Given the description of an element on the screen output the (x, y) to click on. 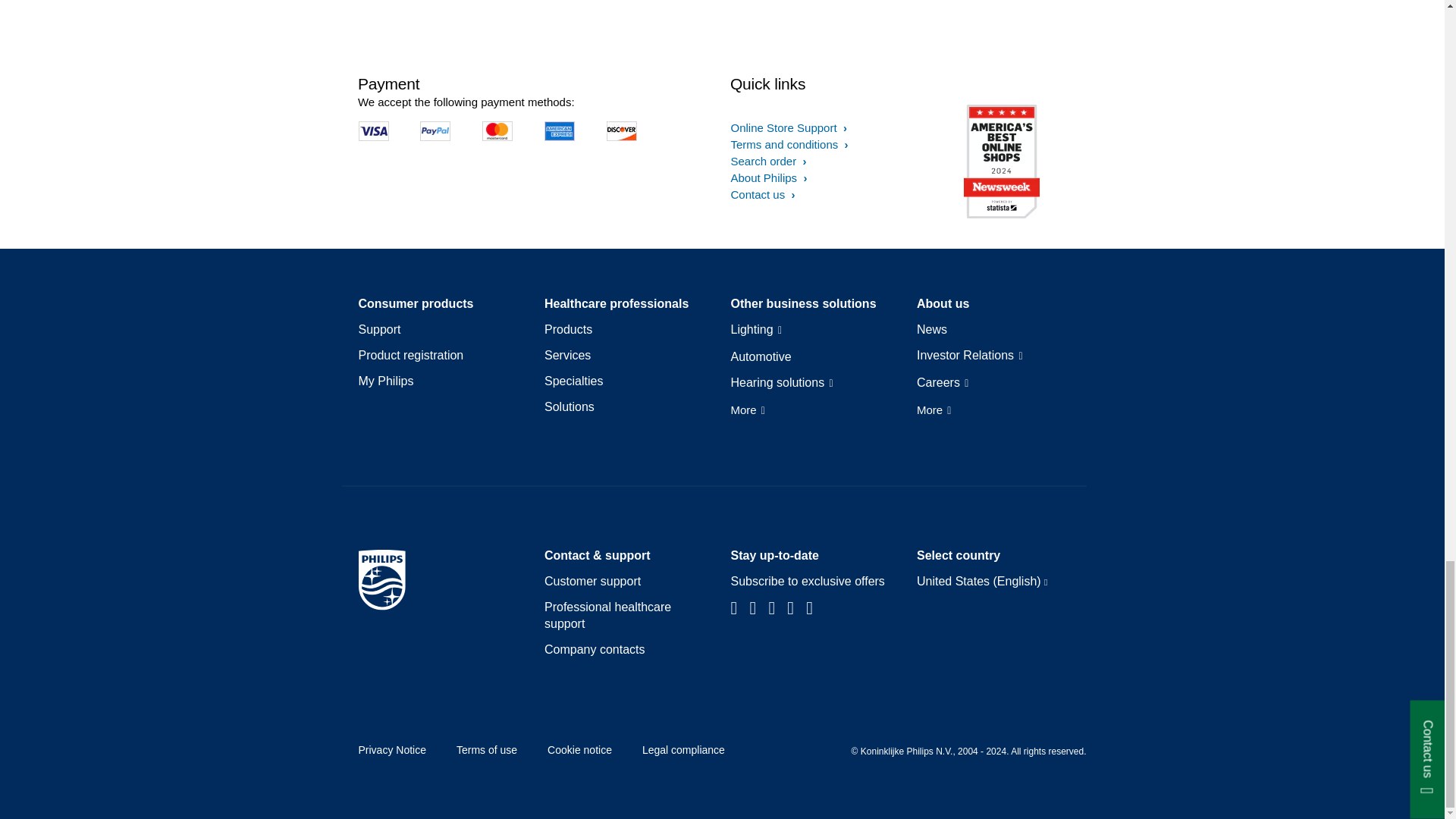
Healthcare professionals (616, 303)
Support (379, 329)
Product registration (410, 355)
Consumer products (415, 303)
My Philips (385, 381)
